Given the description of an element on the screen output the (x, y) to click on. 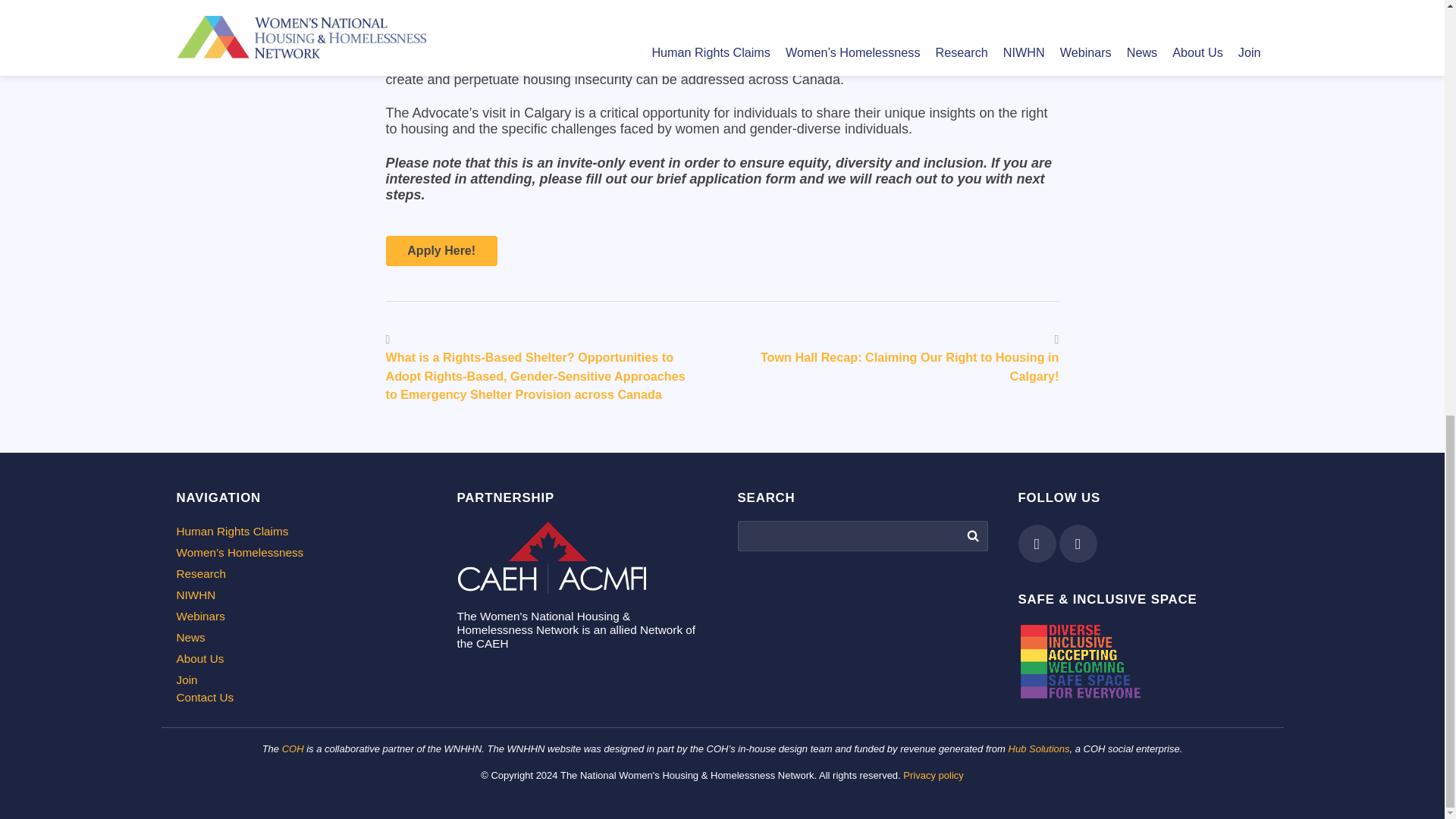
News (301, 637)
Human Rights Claims (301, 531)
About Us (301, 658)
Town Hall Recap: Claiming Our Right to Housing in Calgary! (909, 366)
Hub Solutions (1039, 748)
Apply Here! (440, 250)
Research (301, 573)
NIWHN (301, 594)
Contact Us (301, 697)
Search (971, 535)
